Given the description of an element on the screen output the (x, y) to click on. 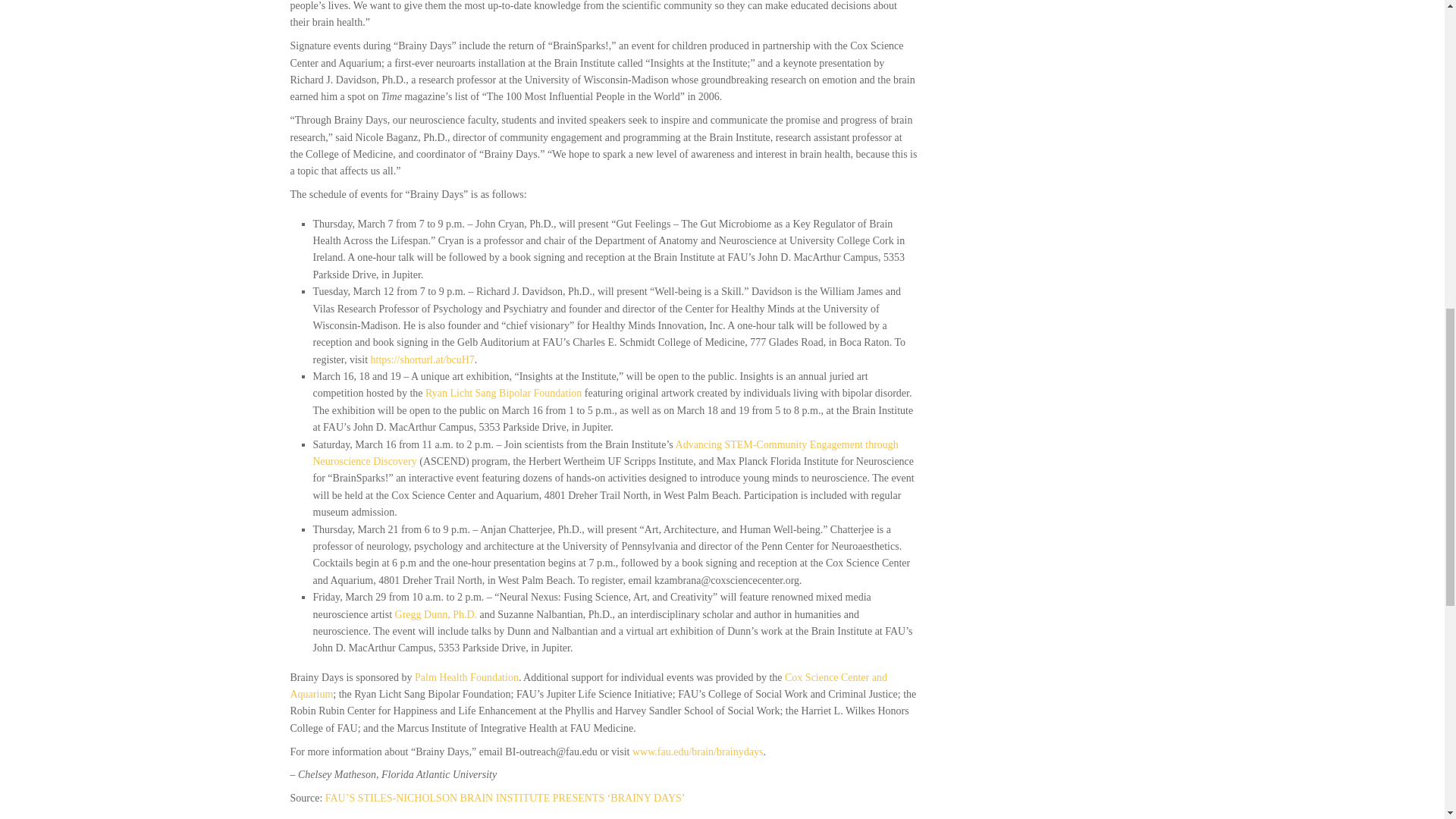
Ryan Licht Sang Bipolar Foundation (502, 392)
Palm Health Foundation (466, 677)
Gregg Dunn, Ph.D. (435, 614)
Cox Science Center and Aquarium (587, 685)
